Given the description of an element on the screen output the (x, y) to click on. 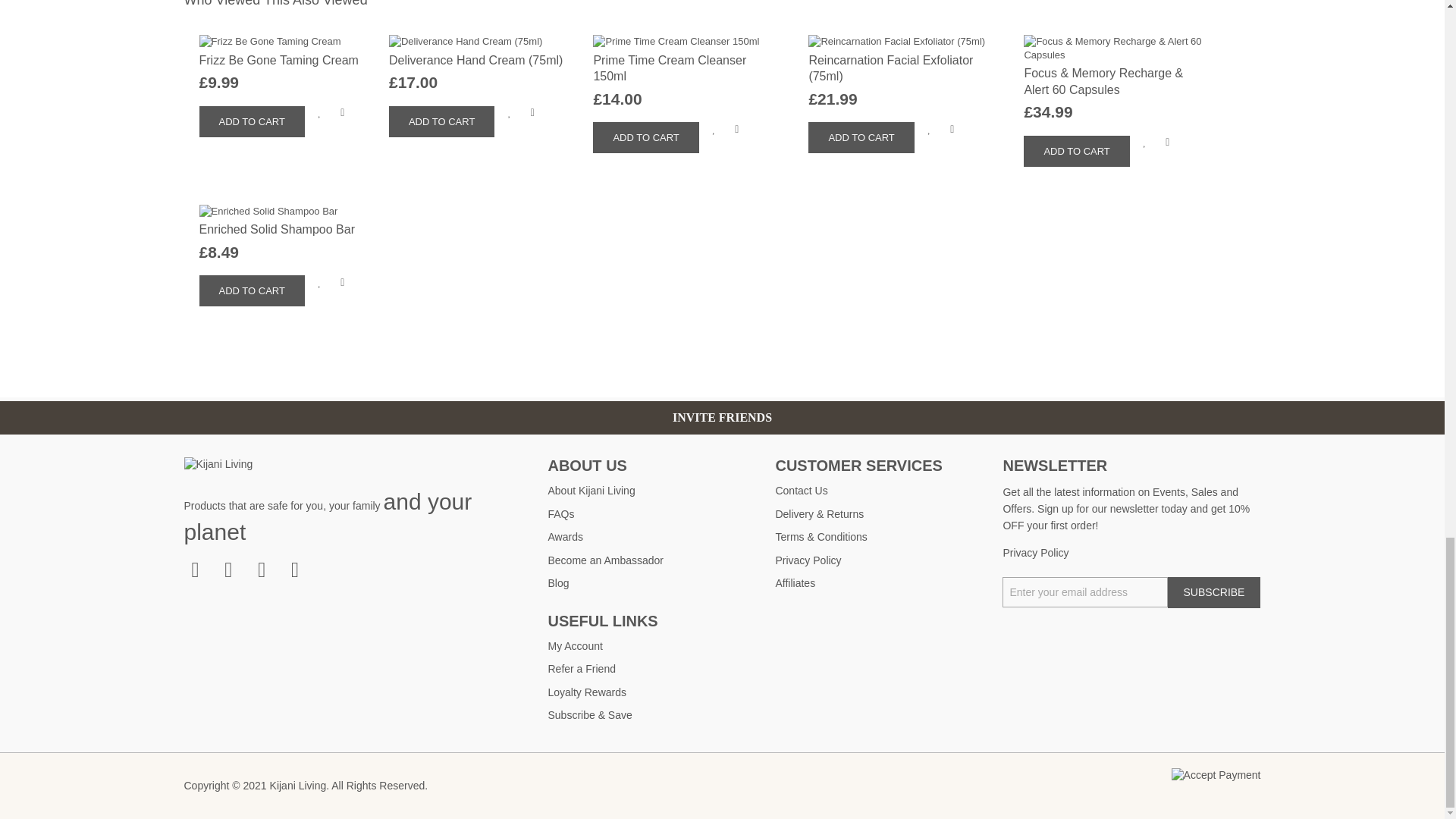
Add to Wish List (509, 112)
Frizz Be Gone Taming Cream (278, 60)
Add to Compare (342, 112)
Add to Cart (441, 121)
Add to Cart (251, 121)
Add to Wish List (319, 112)
